Given the description of an element on the screen output the (x, y) to click on. 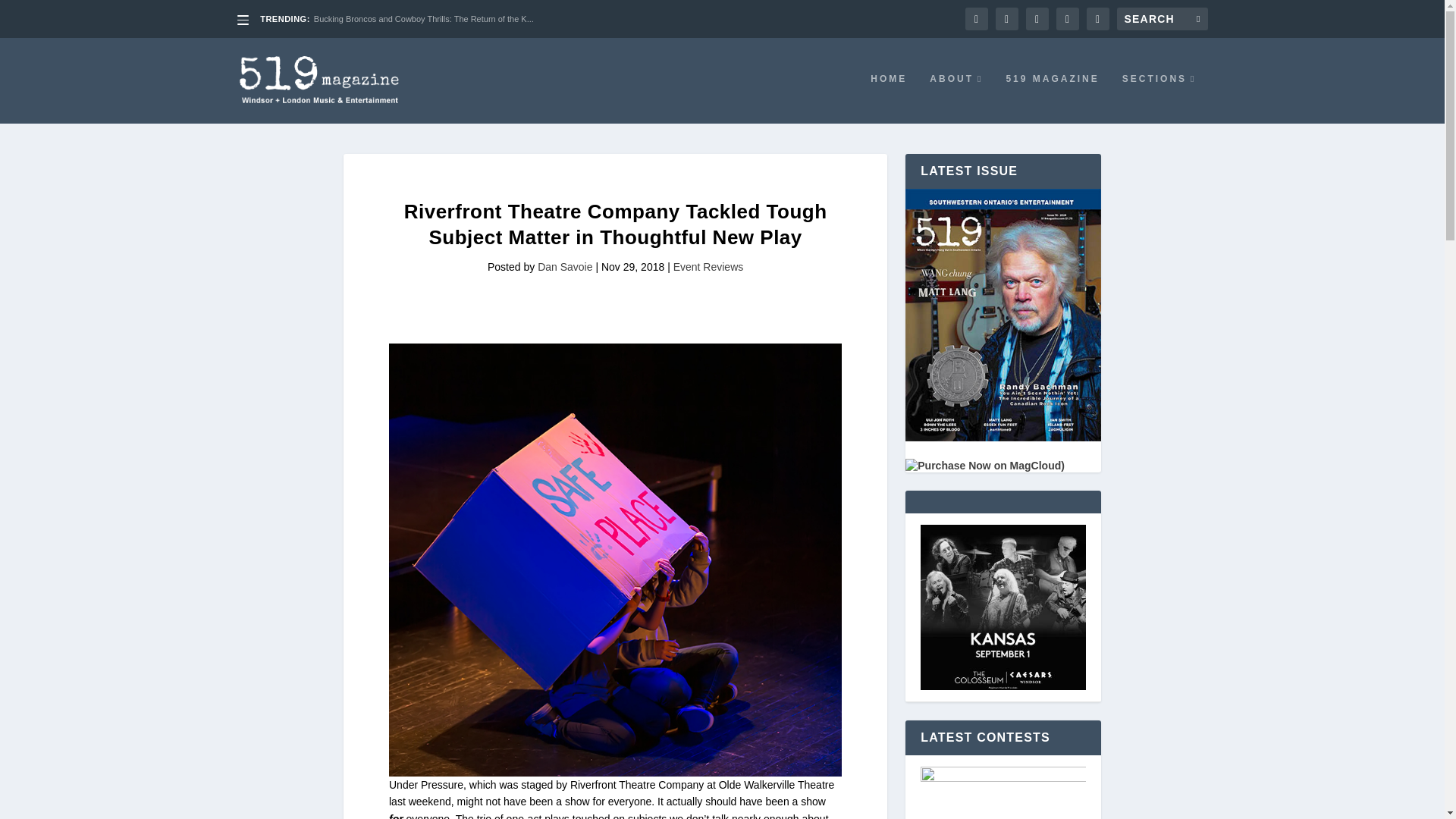
ABOUT (956, 97)
Dan Savoie (564, 266)
SECTIONS (1159, 97)
Search for: (1161, 18)
519 MAGAZINE (1052, 97)
Bucking Broncos and Cowboy Thrills: The Return of the K... (424, 18)
Event Reviews (708, 266)
Posts by Dan Savoie (564, 266)
